Given the description of an element on the screen output the (x, y) to click on. 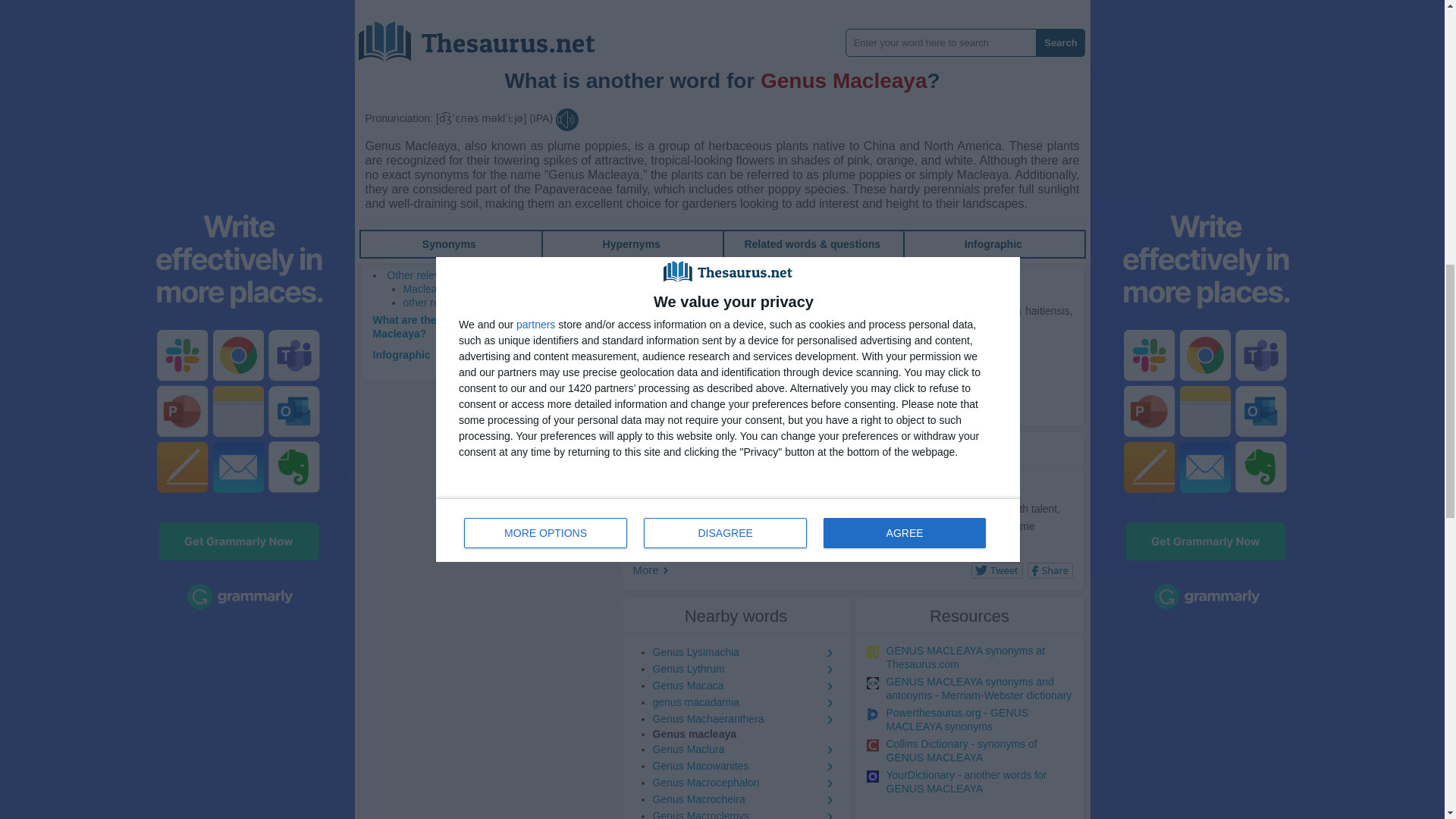
Synonyms for Genus macleaya (708, 78)
genus macadamia (745, 701)
Macleaya (425, 288)
Genus Macaca (745, 685)
Genus Maclura (745, 749)
flowering plant (757, 227)
Genus Macroclemys (745, 813)
Infographic (401, 354)
More (648, 570)
What is another word for Genus Macleaya? (453, 225)
